Given the description of an element on the screen output the (x, y) to click on. 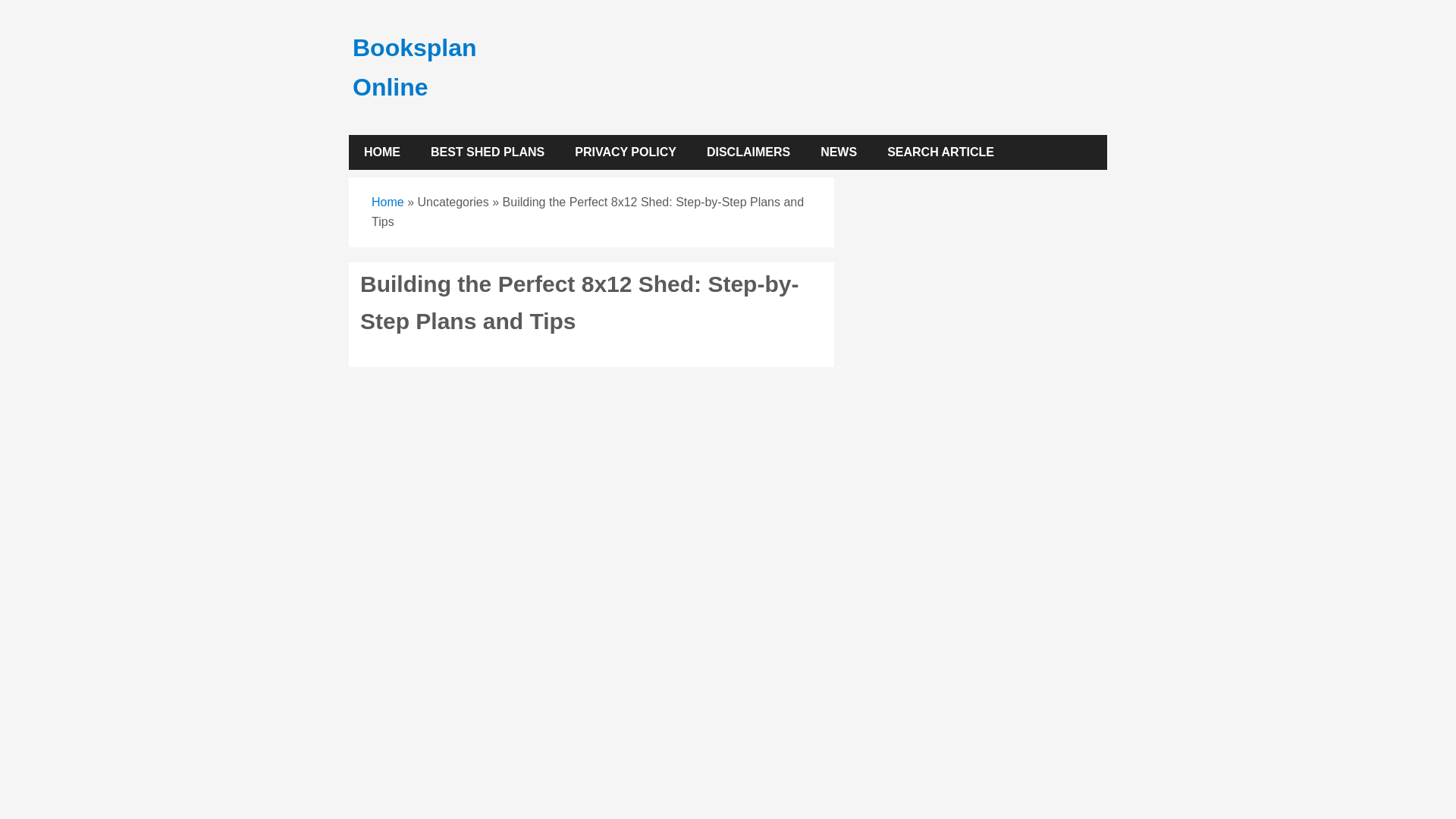
BEST SHED PLANS (486, 152)
NEWS (838, 152)
SEARCH ARTICLE (940, 152)
Home (387, 201)
Booksplan Online (414, 67)
HOME (381, 152)
PRIVACY POLICY (625, 152)
DISCLAIMERS (748, 152)
